Given the description of an element on the screen output the (x, y) to click on. 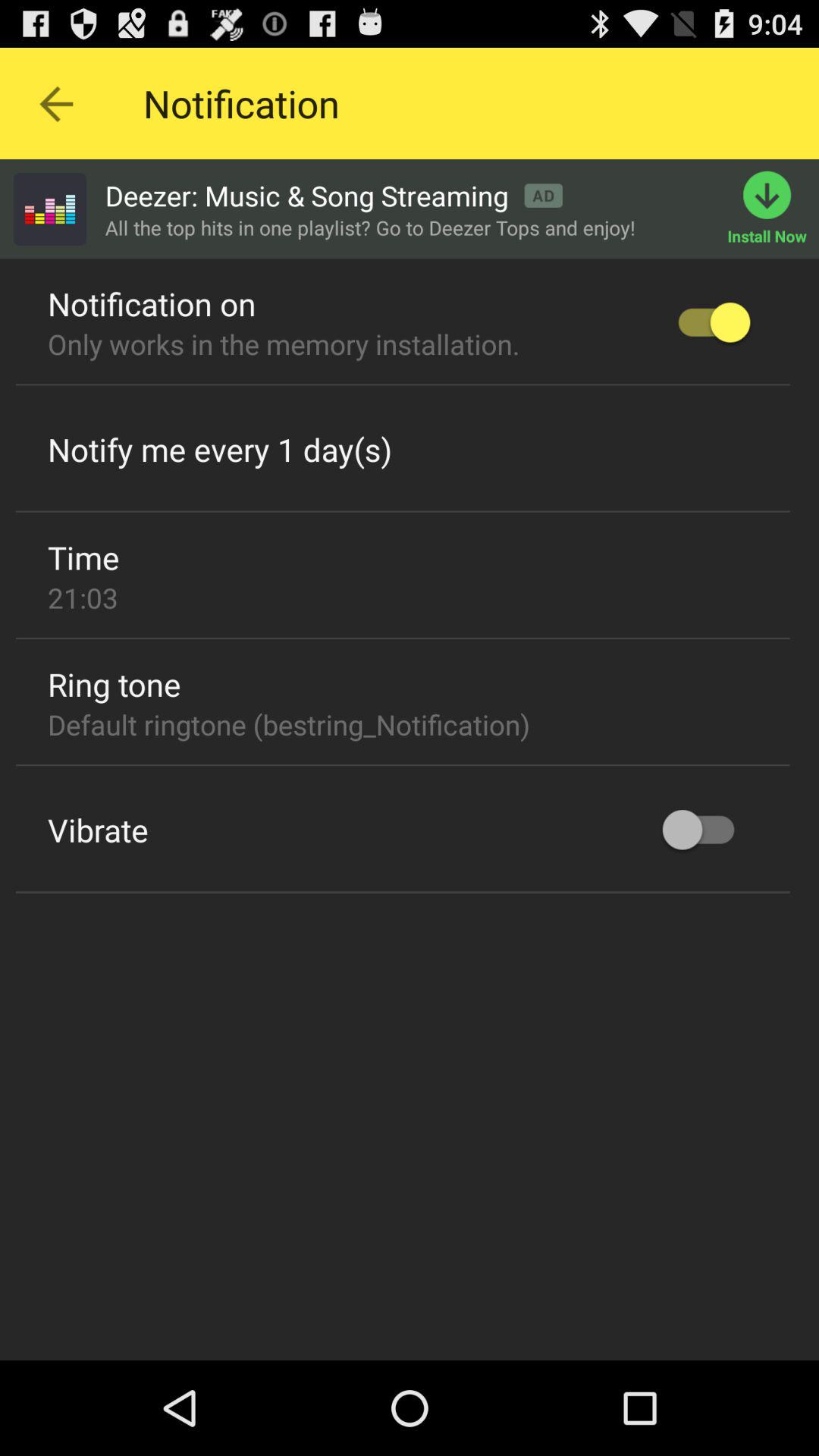
click item below the 21:03 icon (402, 638)
